Given the description of an element on the screen output the (x, y) to click on. 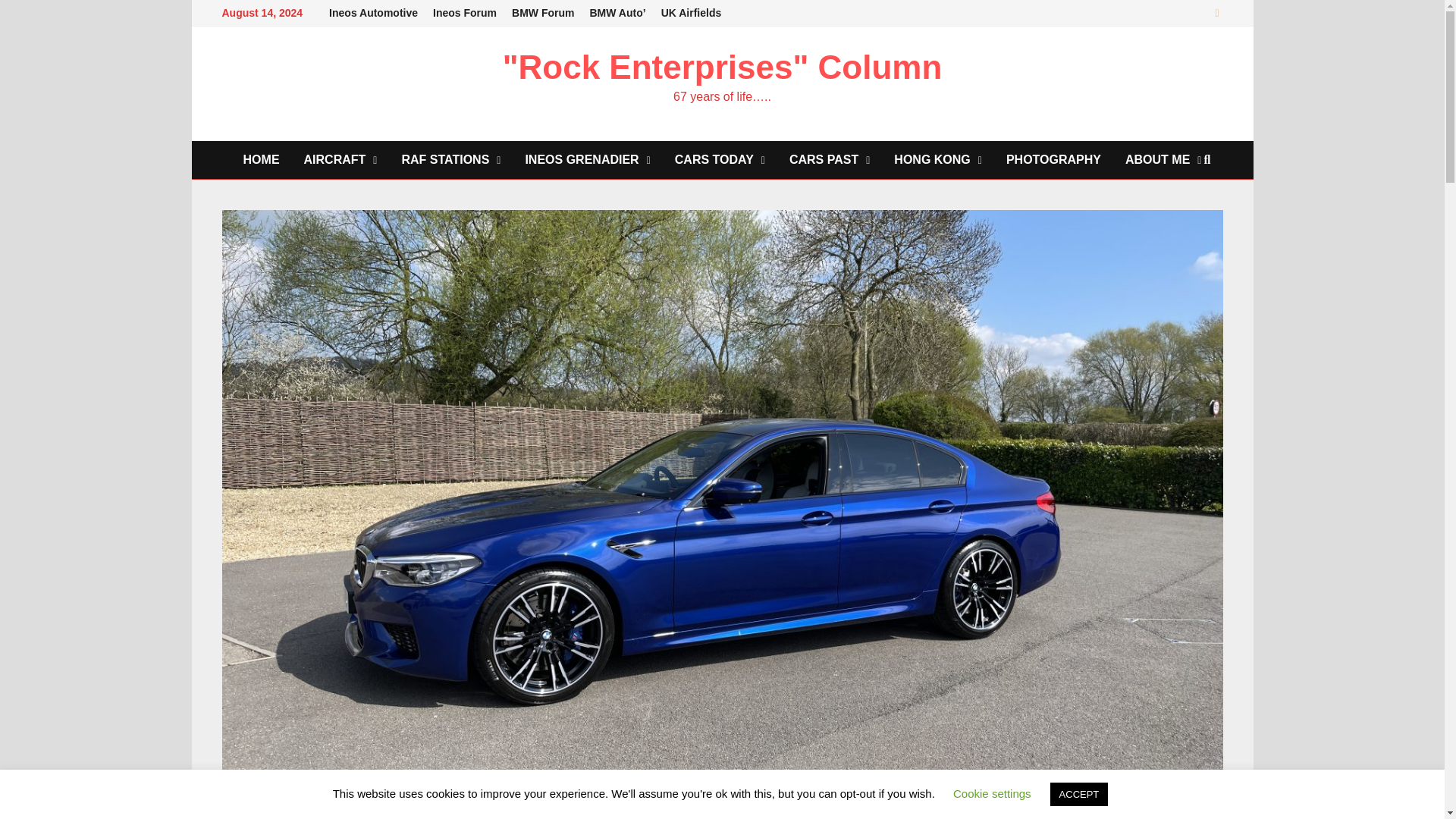
CARS TODAY (719, 159)
Ineos Forum (464, 13)
Ineos Automotive (373, 13)
RAF STATIONS (450, 159)
INEOS GRENADIER (587, 159)
"Rock Enterprises" Column (722, 66)
BMW Forum (541, 13)
HOME (261, 159)
AIRCRAFT (341, 159)
UK Airfields (691, 13)
